Given the description of an element on the screen output the (x, y) to click on. 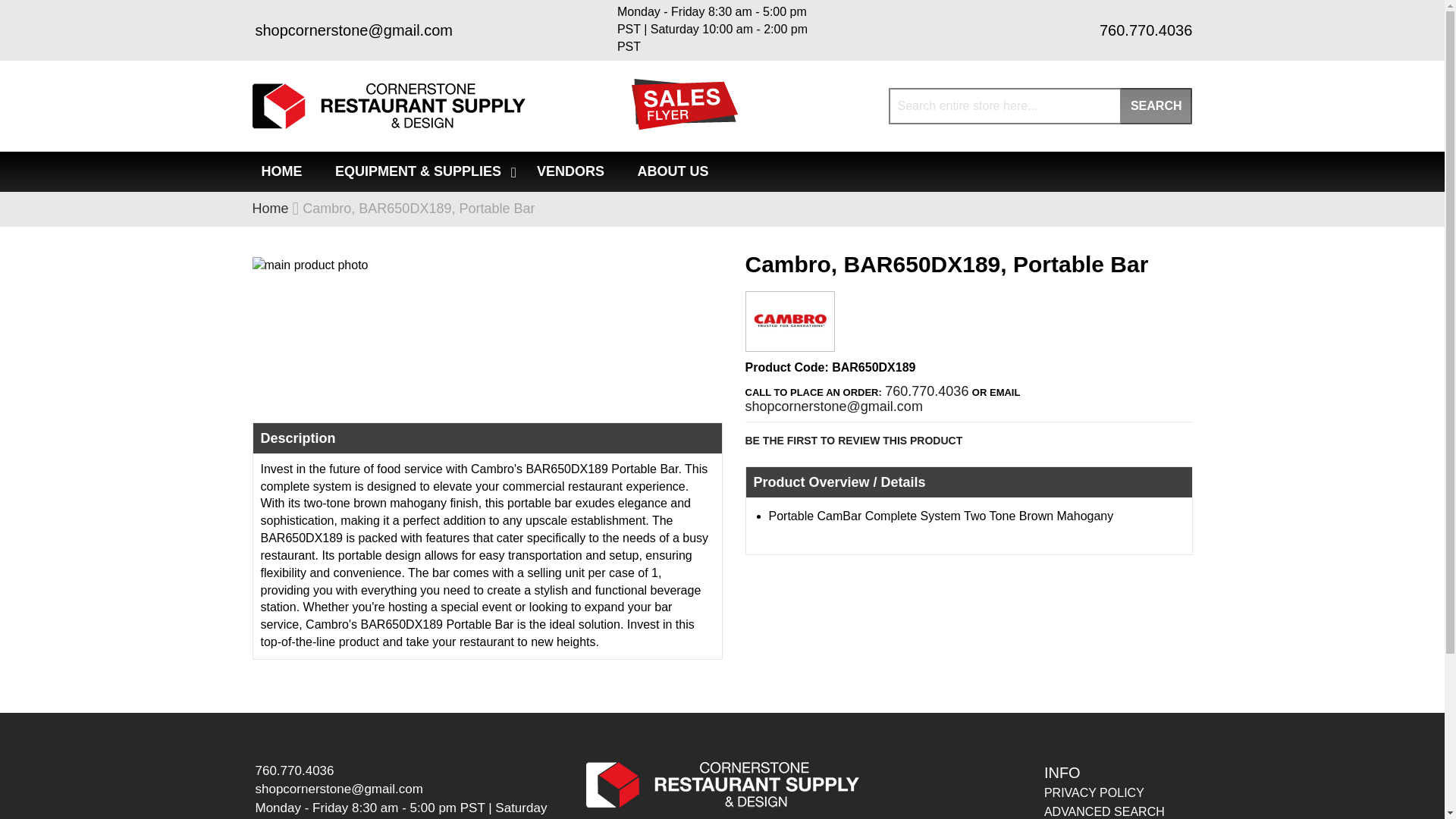
HOME (281, 171)
Search (1155, 105)
760.770.4036 (1144, 30)
Cambro (790, 339)
SEARCH (1155, 105)
Go to Home Page (269, 208)
